Given the description of an element on the screen output the (x, y) to click on. 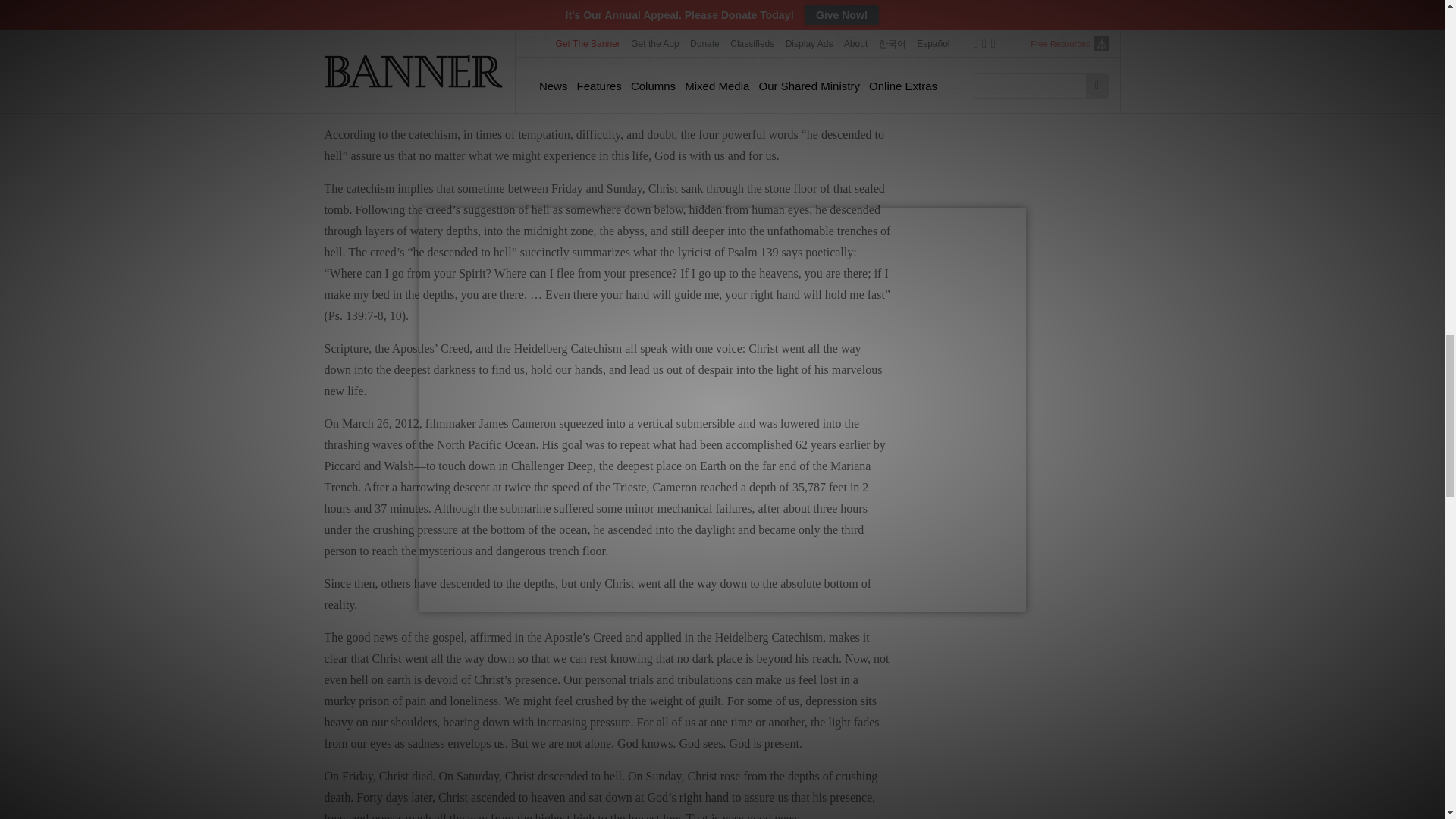
Editorial: God is Still With Us (1000, 40)
News: Congregation Members Create Sermon Illustrations (1018, 12)
